Given the description of an element on the screen output the (x, y) to click on. 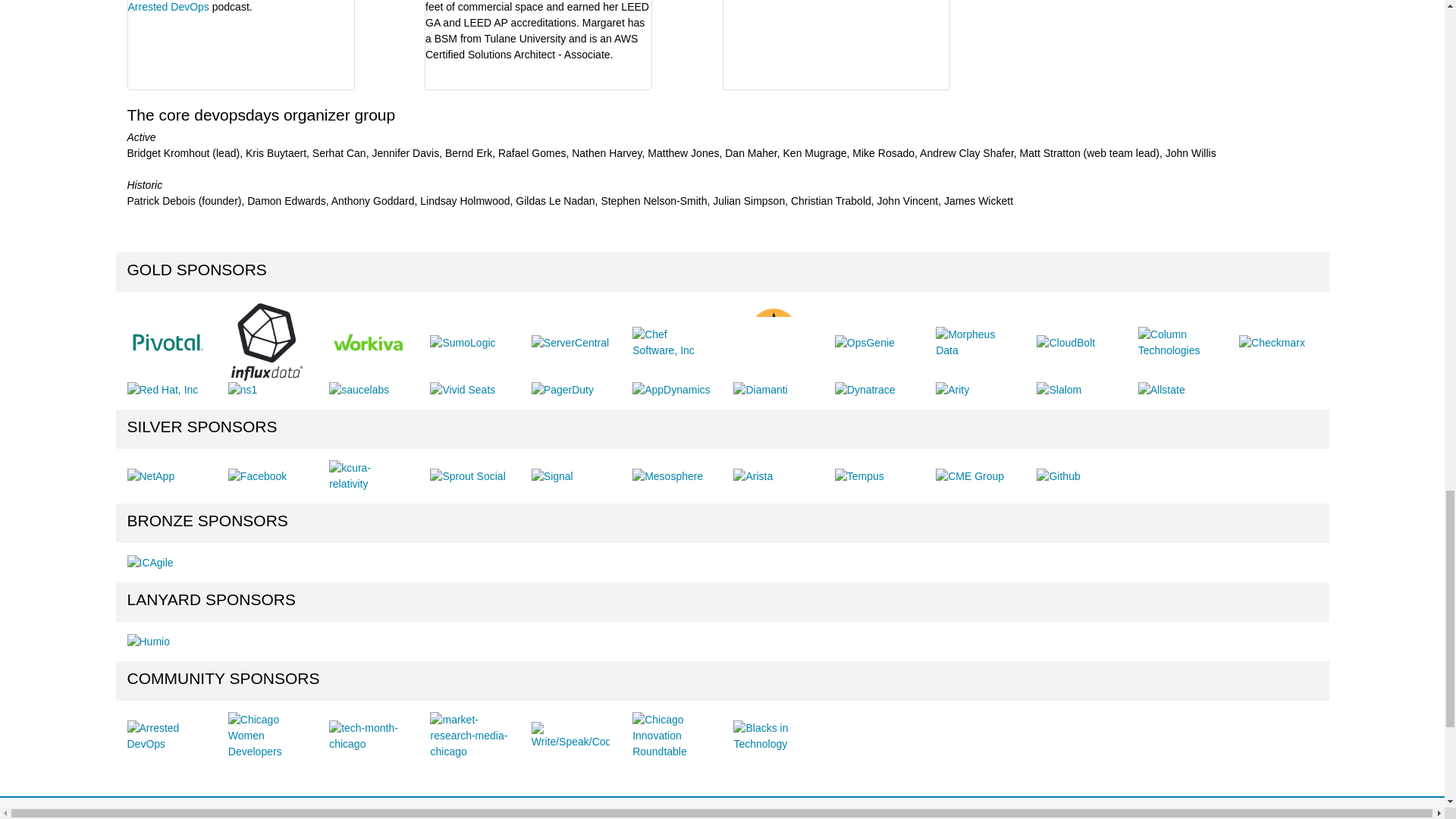
SumoLogic (462, 342)
ns1 (242, 390)
ServerCentral (569, 342)
CloudBolt (1065, 342)
Checkmarx (1271, 342)
InfluxData (266, 342)
Vivid Seats (462, 390)
VictorOps (771, 342)
PagerDuty (562, 390)
Arrested DevOps (168, 6)
